Given the description of an element on the screen output the (x, y) to click on. 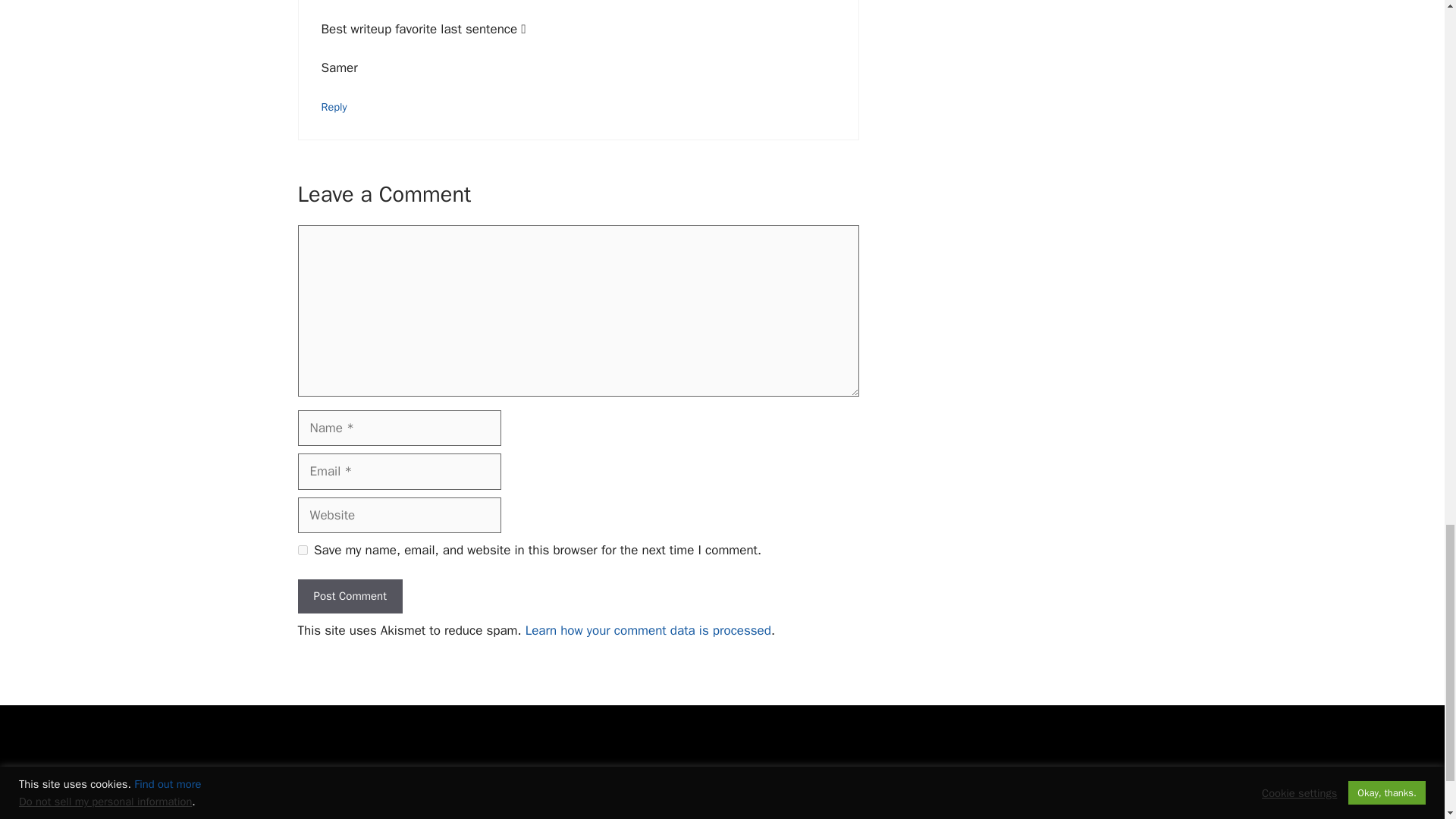
Learn how your comment data is processed (648, 630)
Post Comment (349, 596)
Reply (334, 106)
yes (302, 550)
Post Comment (349, 596)
